Given the description of an element on the screen output the (x, y) to click on. 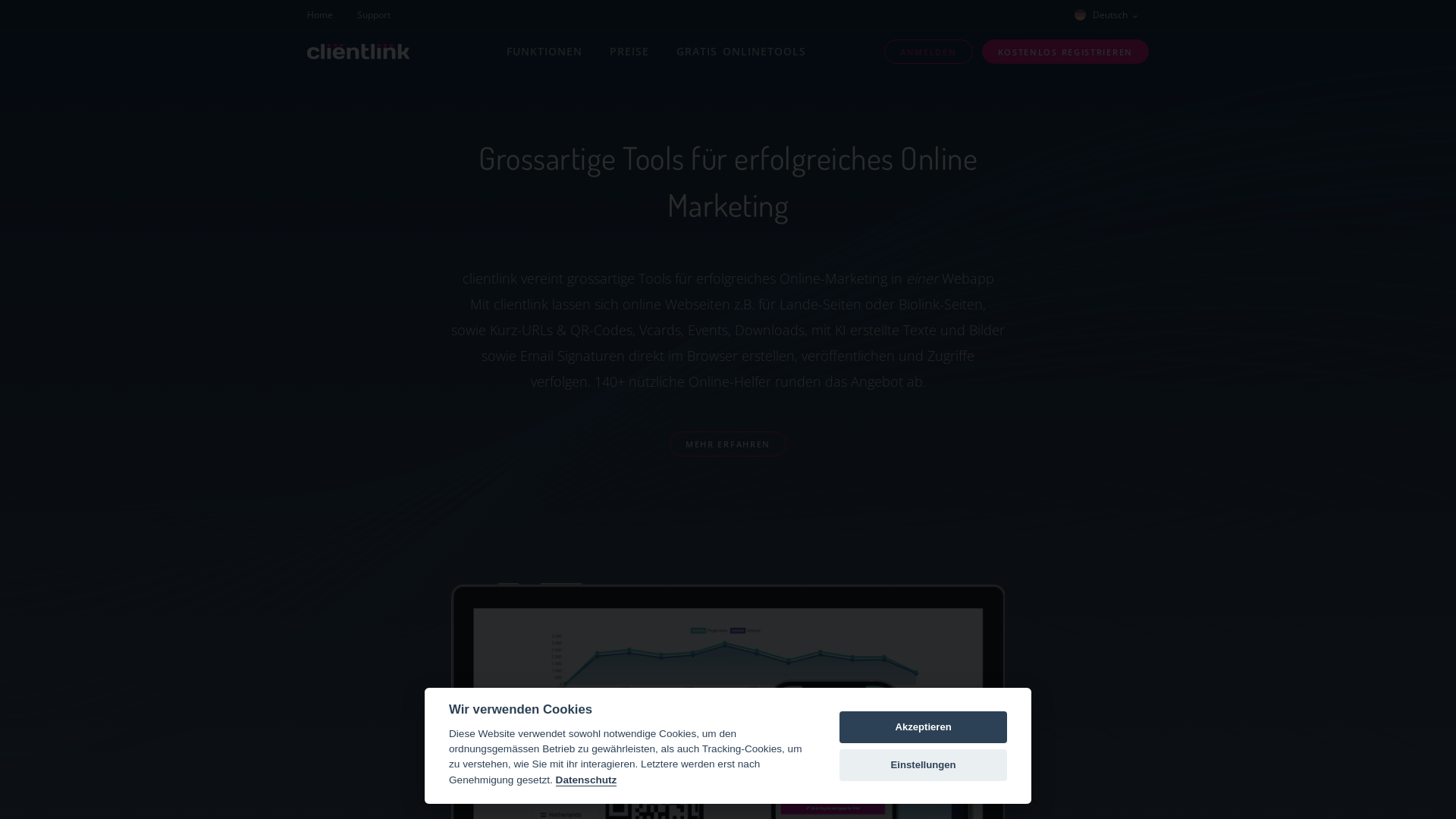
PREISE Element type: text (629, 51)
ANMELDEN Element type: text (928, 51)
KOSTENLOS REGISTRIEREN Element type: text (1065, 51)
MEHR ERFAHREN Element type: text (727, 443)
Akzeptieren Element type: text (923, 727)
Datenschutz Element type: text (586, 780)
FUNKTIONEN Element type: text (544, 51)
Support Element type: text (373, 14)
Home Element type: text (326, 14)
GRATIS ONLINETOOLS Element type: text (740, 51)
Einstellungen Element type: text (923, 765)
